Given the description of an element on the screen output the (x, y) to click on. 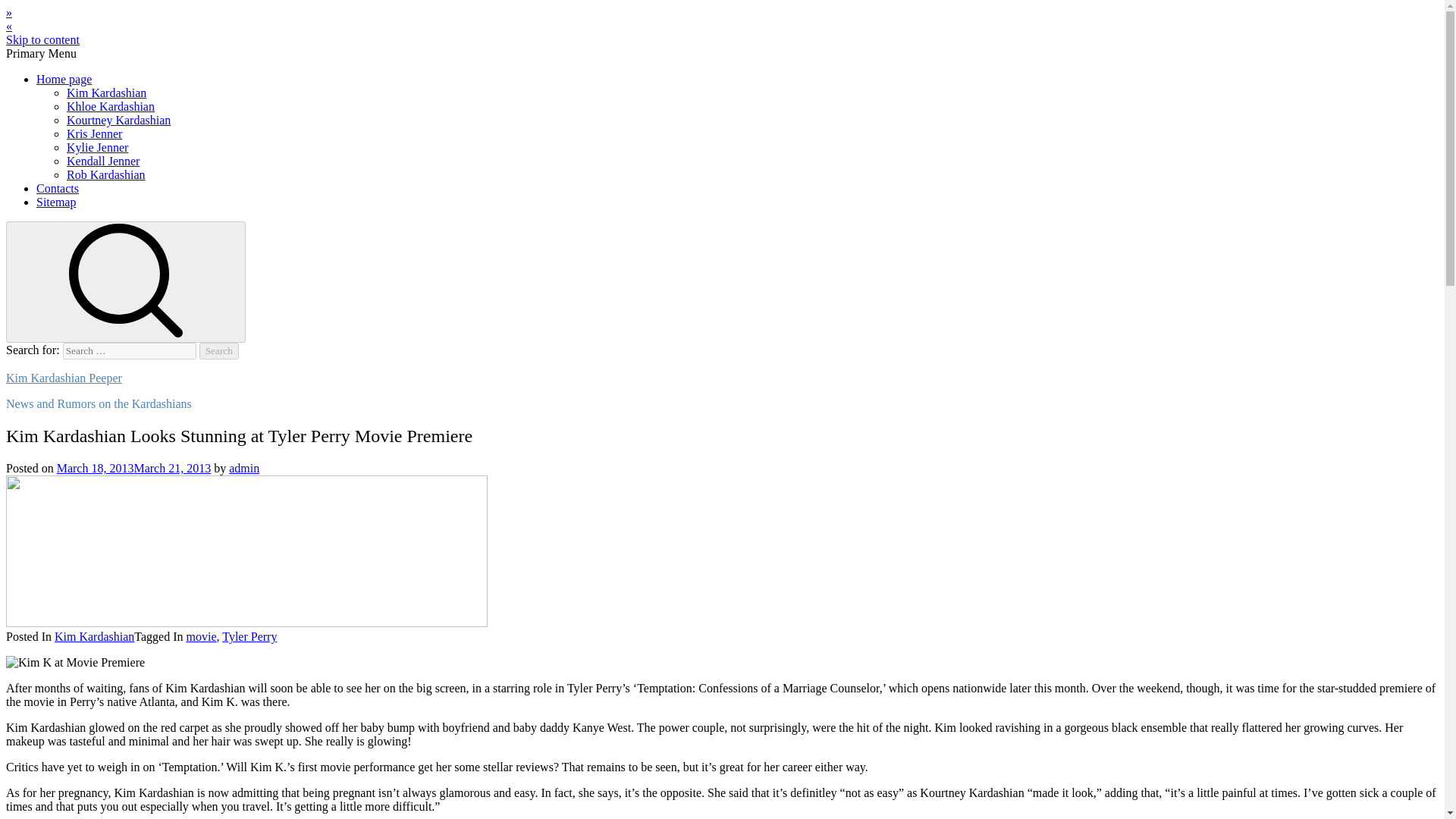
Rob Kardashian (105, 174)
Skip to content (42, 39)
Kim Kardashian Peeper (63, 377)
Search (218, 351)
Sitemap (55, 201)
Kris Jenner (94, 133)
Kylie Jenner (97, 146)
Kim Kardashian (94, 635)
Search (218, 351)
Kourtney Kardashian (118, 119)
March 18, 2013March 21, 2013 (133, 468)
Contacts (57, 187)
Home page (63, 78)
Kim Kardashian (106, 92)
Khloe Kardashian (110, 106)
